Given the description of an element on the screen output the (x, y) to click on. 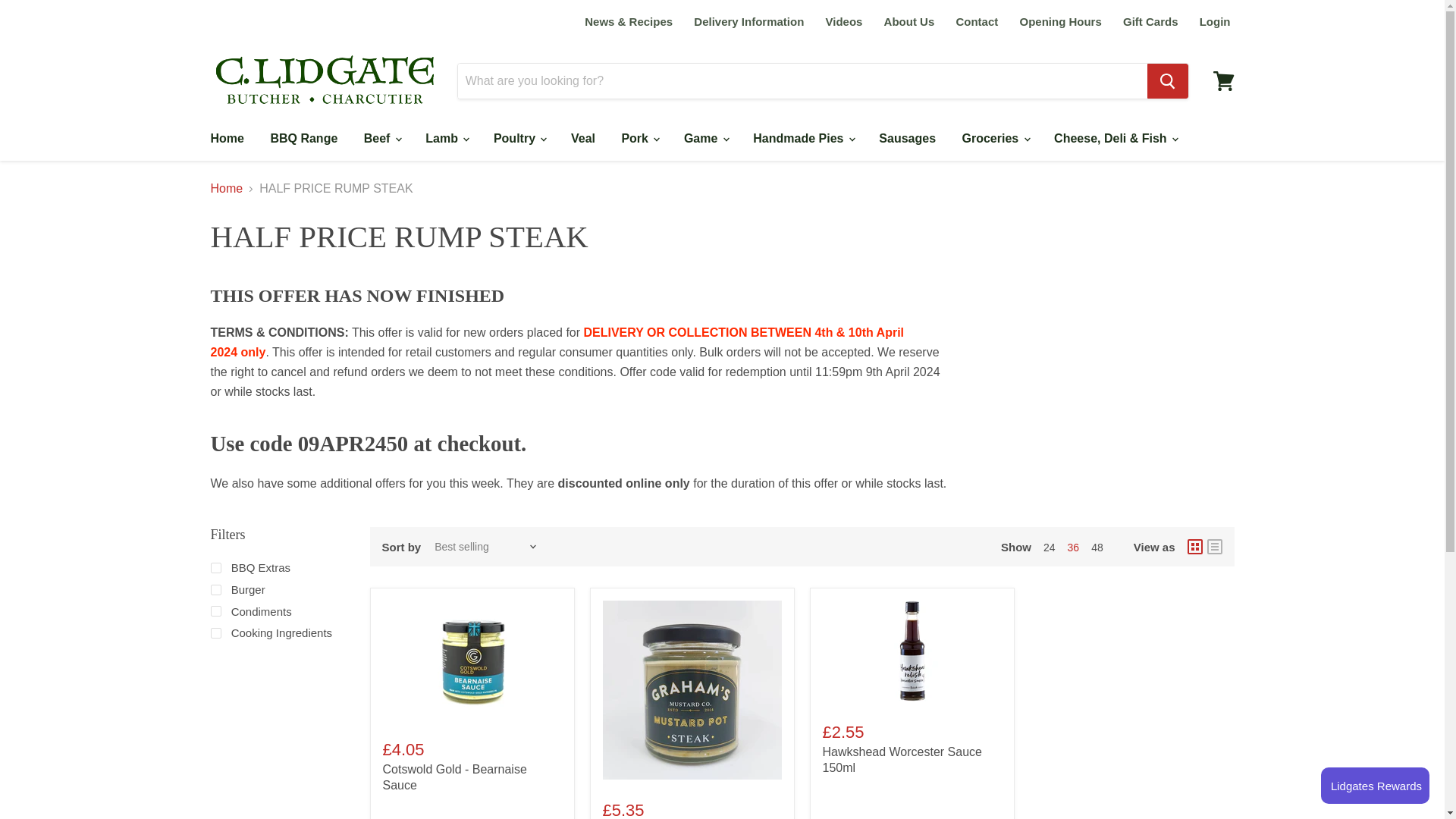
Home (226, 138)
Opening Hours (1059, 21)
Login (1215, 21)
View cart (1223, 80)
Handmade Pies (802, 138)
BBQ Range (304, 138)
LoyaltyLion beacon (1374, 785)
Beef (381, 138)
Gift Cards (1150, 21)
Veal (583, 138)
Delivery Information (748, 21)
Game (705, 138)
Contact (976, 21)
About Us (909, 21)
Pork (639, 138)
